Given the description of an element on the screen output the (x, y) to click on. 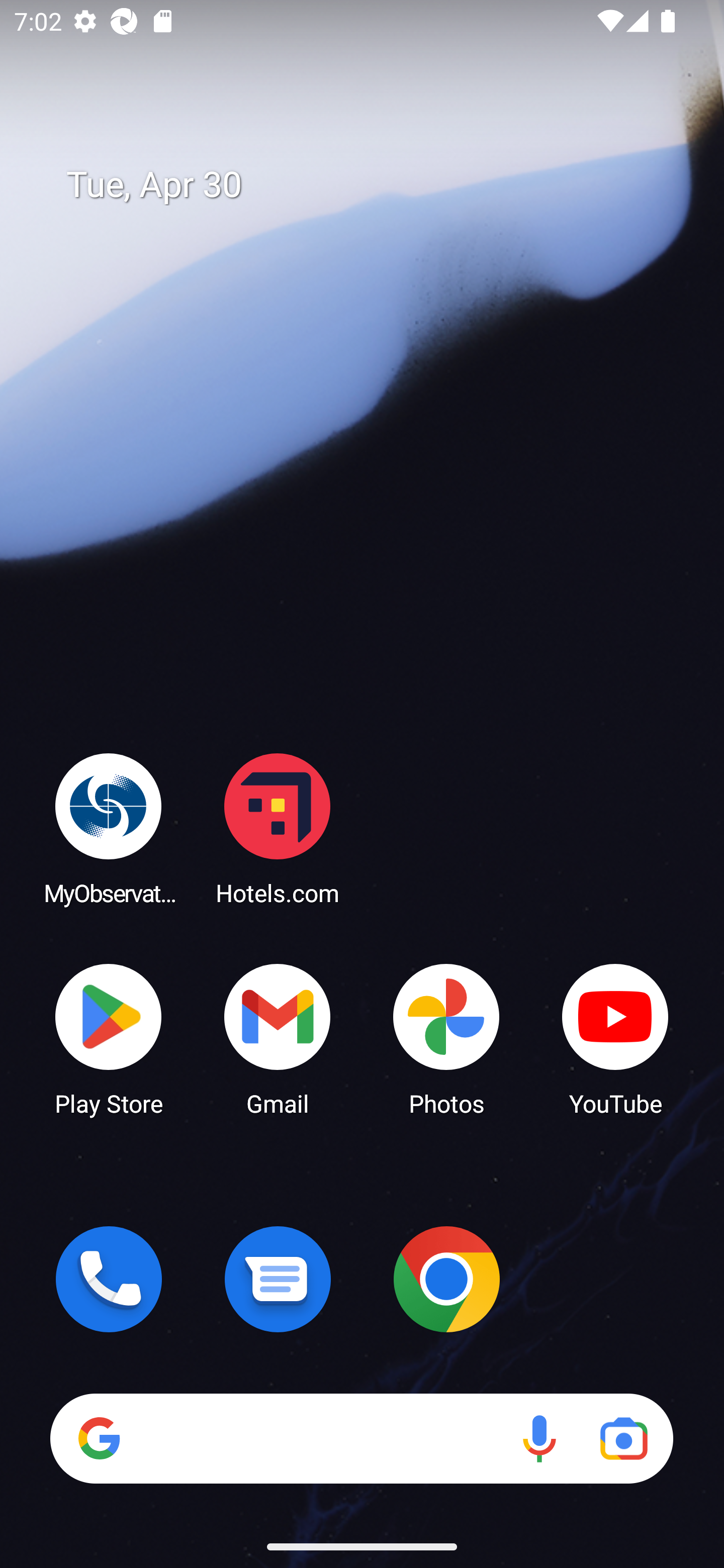
Tue, Apr 30 (375, 184)
MyObservatory (108, 828)
Hotels.com (277, 828)
Play Store (108, 1038)
Gmail (277, 1038)
Photos (445, 1038)
YouTube (615, 1038)
Phone (108, 1279)
Messages (277, 1279)
Chrome (446, 1279)
Voice search (539, 1438)
Google Lens (623, 1438)
